Given the description of an element on the screen output the (x, y) to click on. 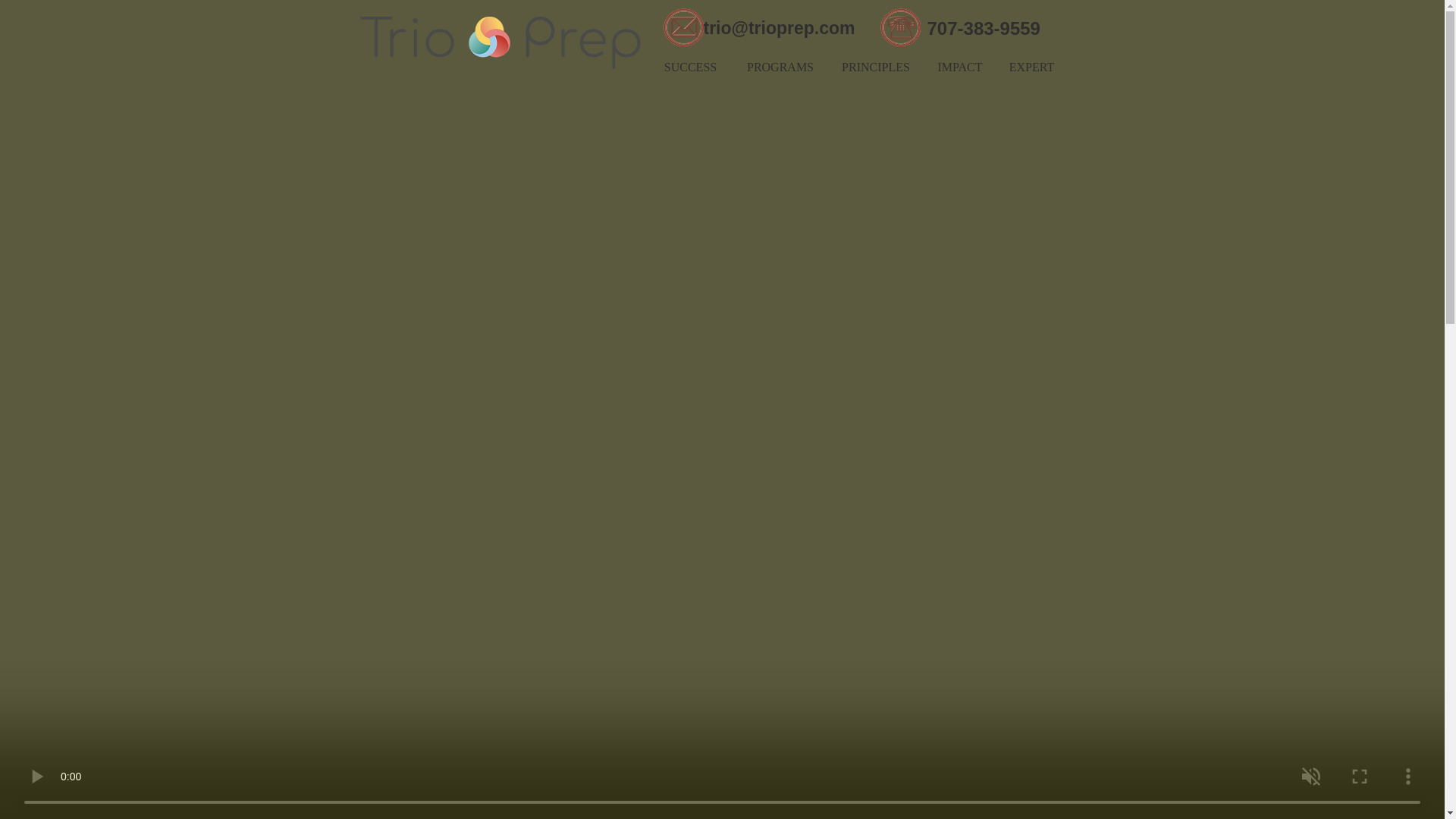
PROGRAMS (779, 67)
PRINCIPLES (876, 67)
IMPACT (959, 67)
SUCCESS (689, 67)
EXPERT (1031, 67)
